Given the description of an element on the screen output the (x, y) to click on. 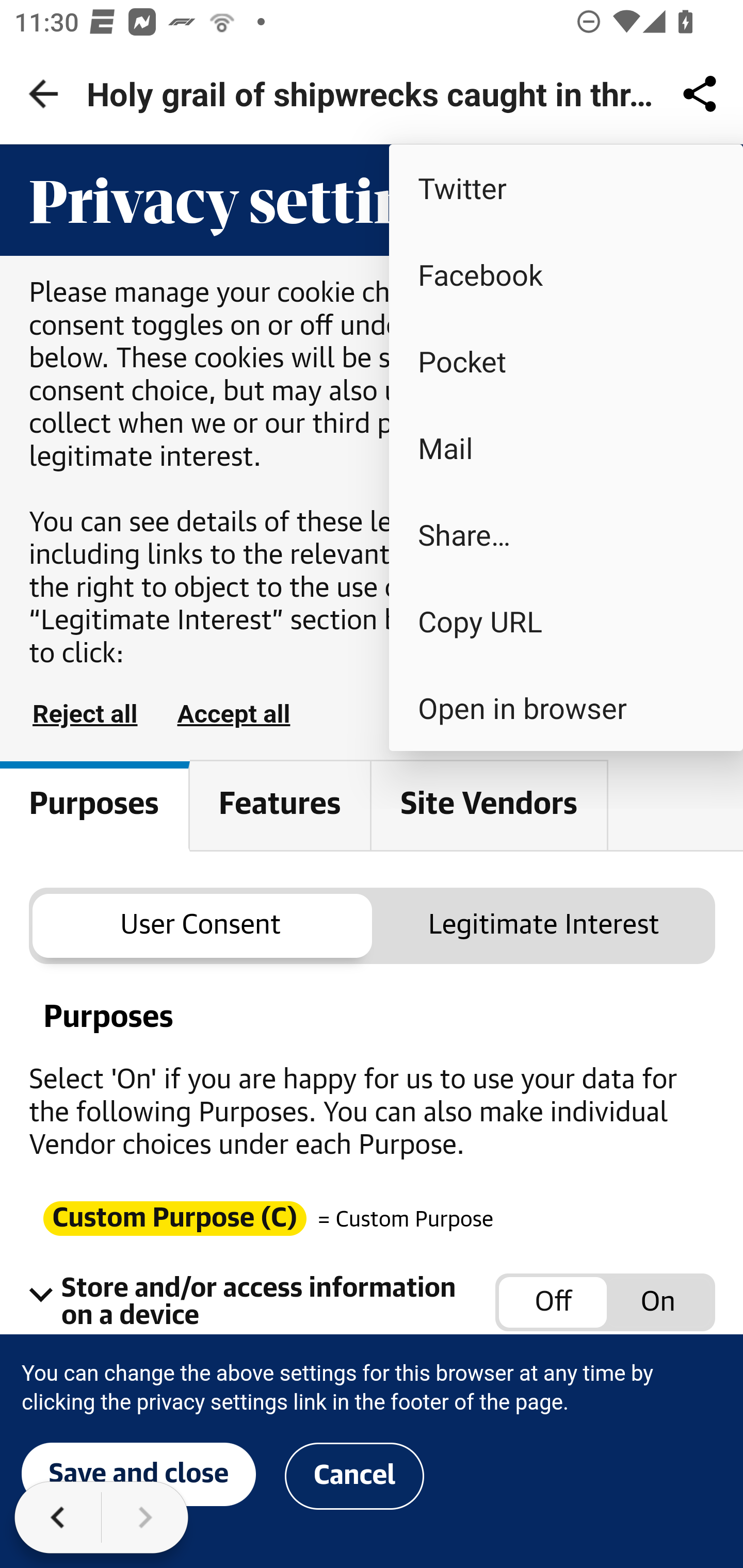
Twitter (566, 187)
Facebook (566, 274)
Pocket (566, 361)
Mail (566, 447)
Share… (566, 533)
Copy URL (566, 620)
Open in browser (566, 707)
